Given the description of an element on the screen output the (x, y) to click on. 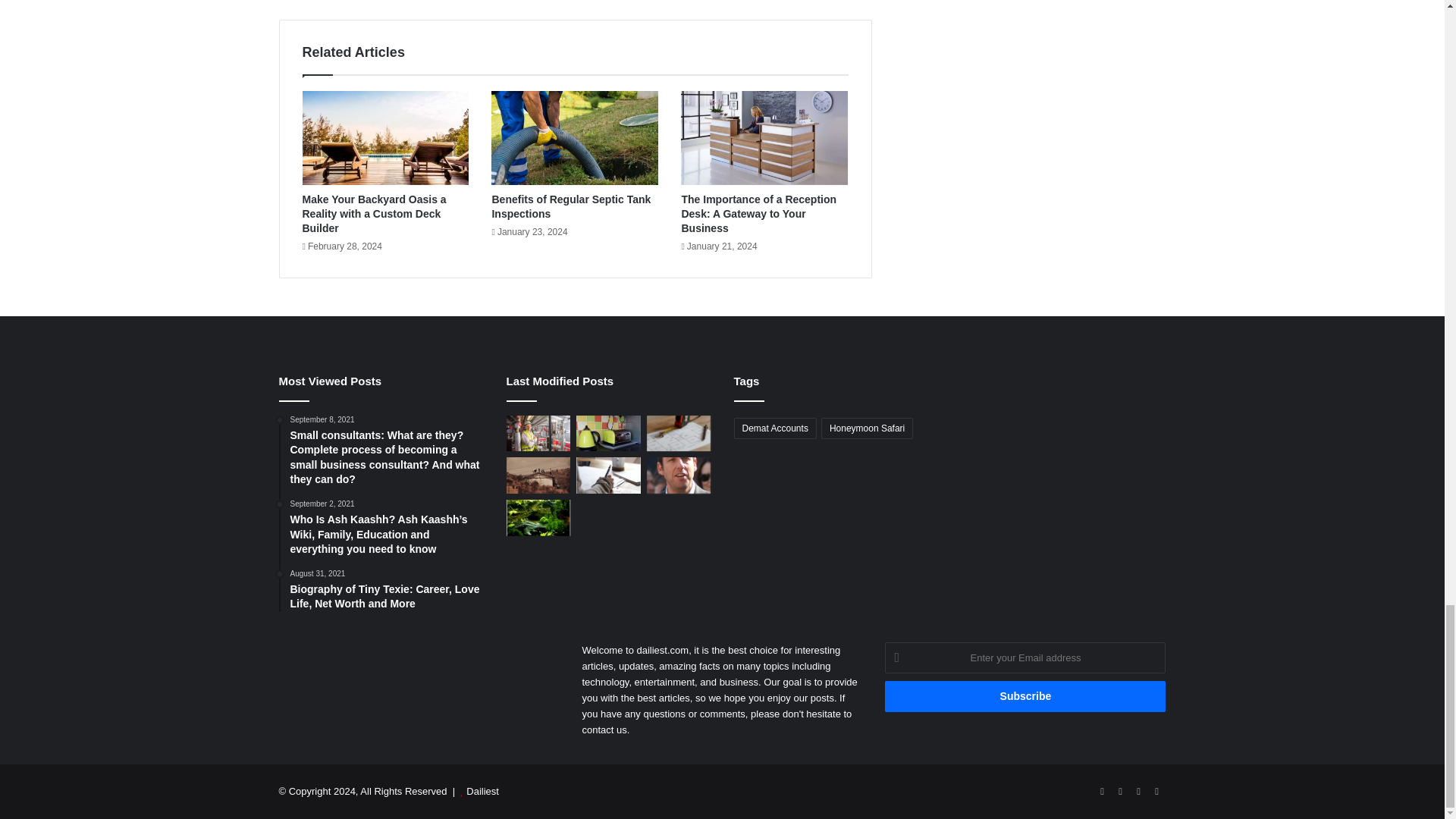
Subscribe (1025, 695)
